Given the description of an element on the screen output the (x, y) to click on. 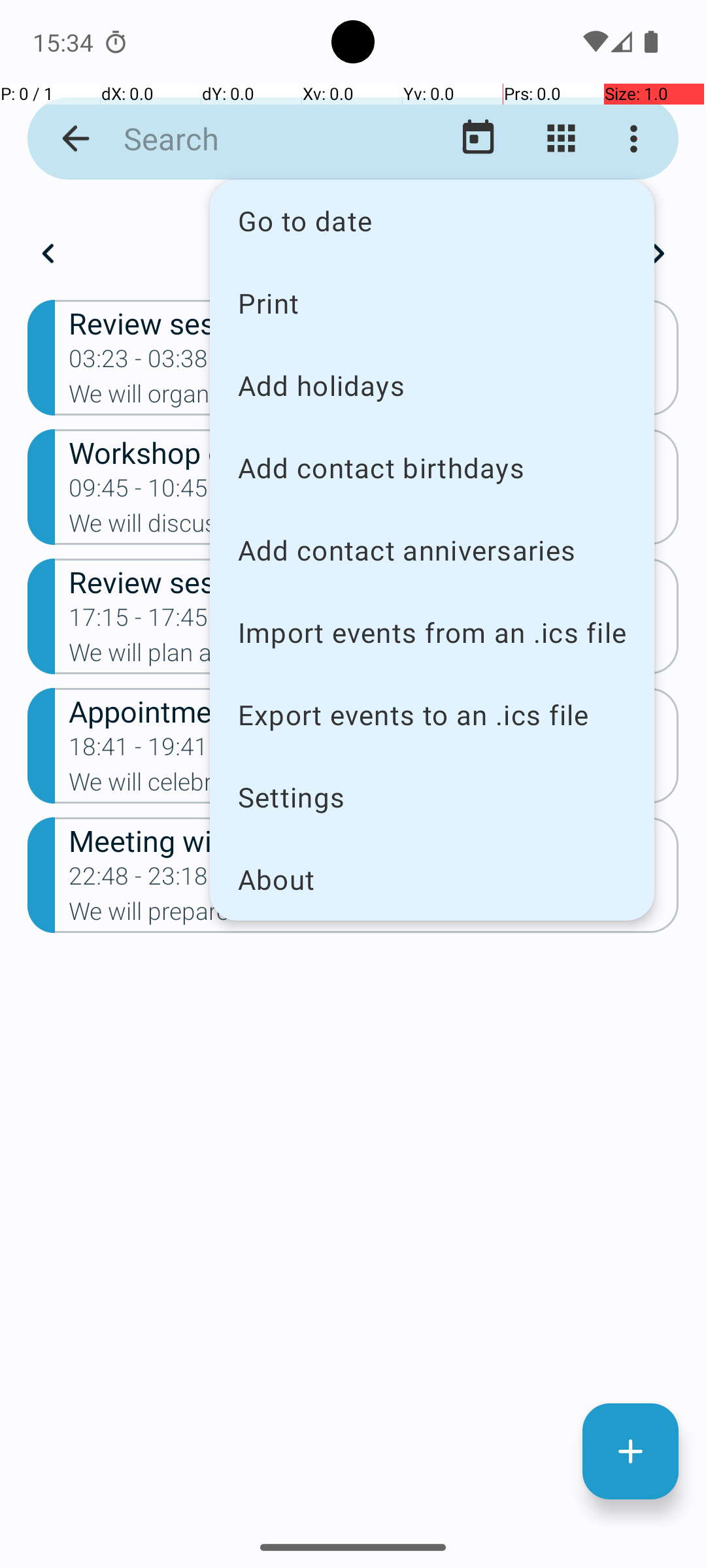
Go to date Element type: android.widget.TextView (431, 220)
Print Element type: android.widget.TextView (431, 302)
Add holidays Element type: android.widget.TextView (431, 384)
Add contact birthdays Element type: android.widget.TextView (431, 467)
Add contact anniversaries Element type: android.widget.TextView (431, 549)
Import events from an .ics file Element type: android.widget.TextView (431, 631)
Export events to an .ics file Element type: android.widget.TextView (431, 714)
